Given the description of an element on the screen output the (x, y) to click on. 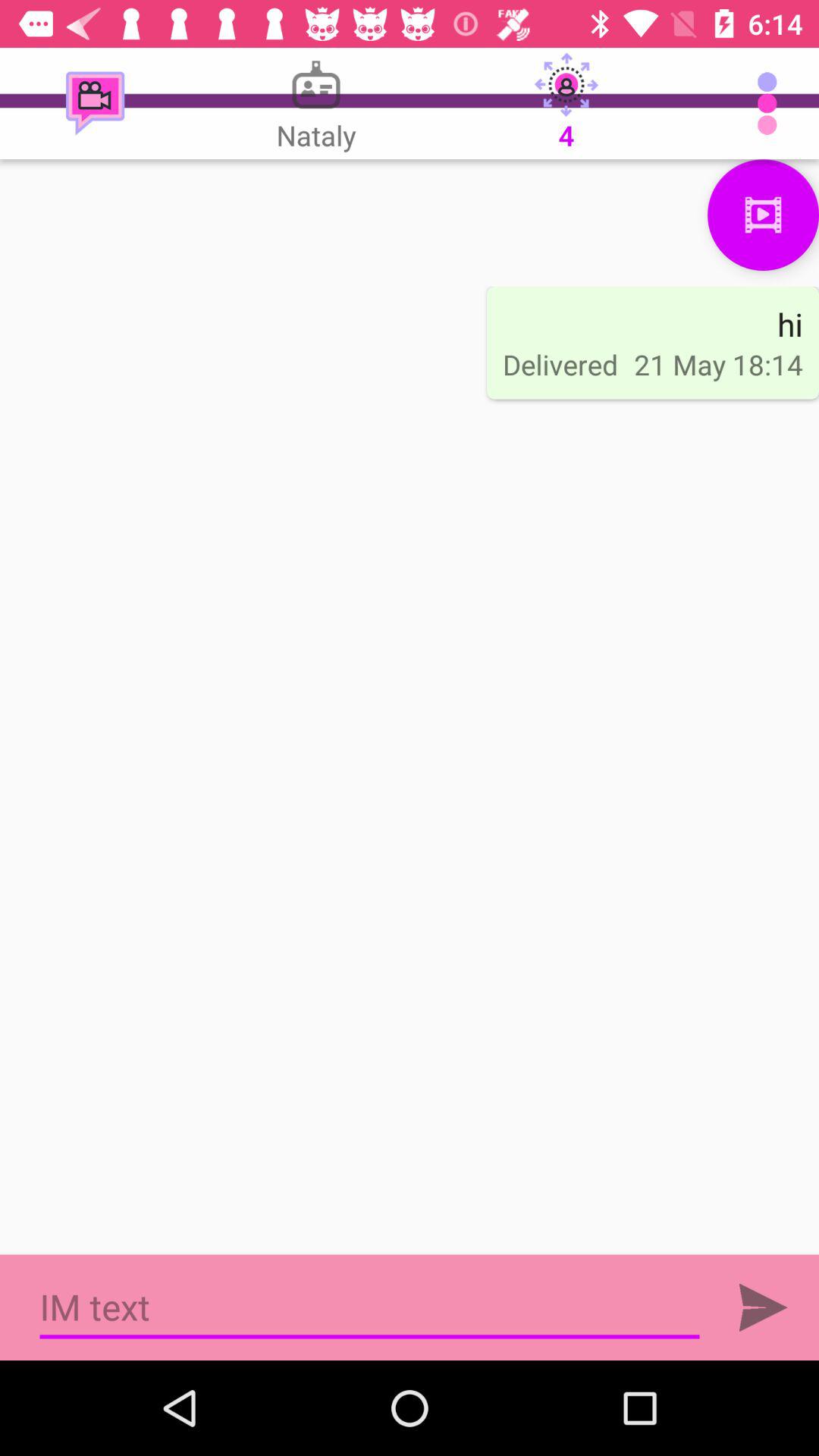
write im text (369, 1307)
